Given the description of an element on the screen output the (x, y) to click on. 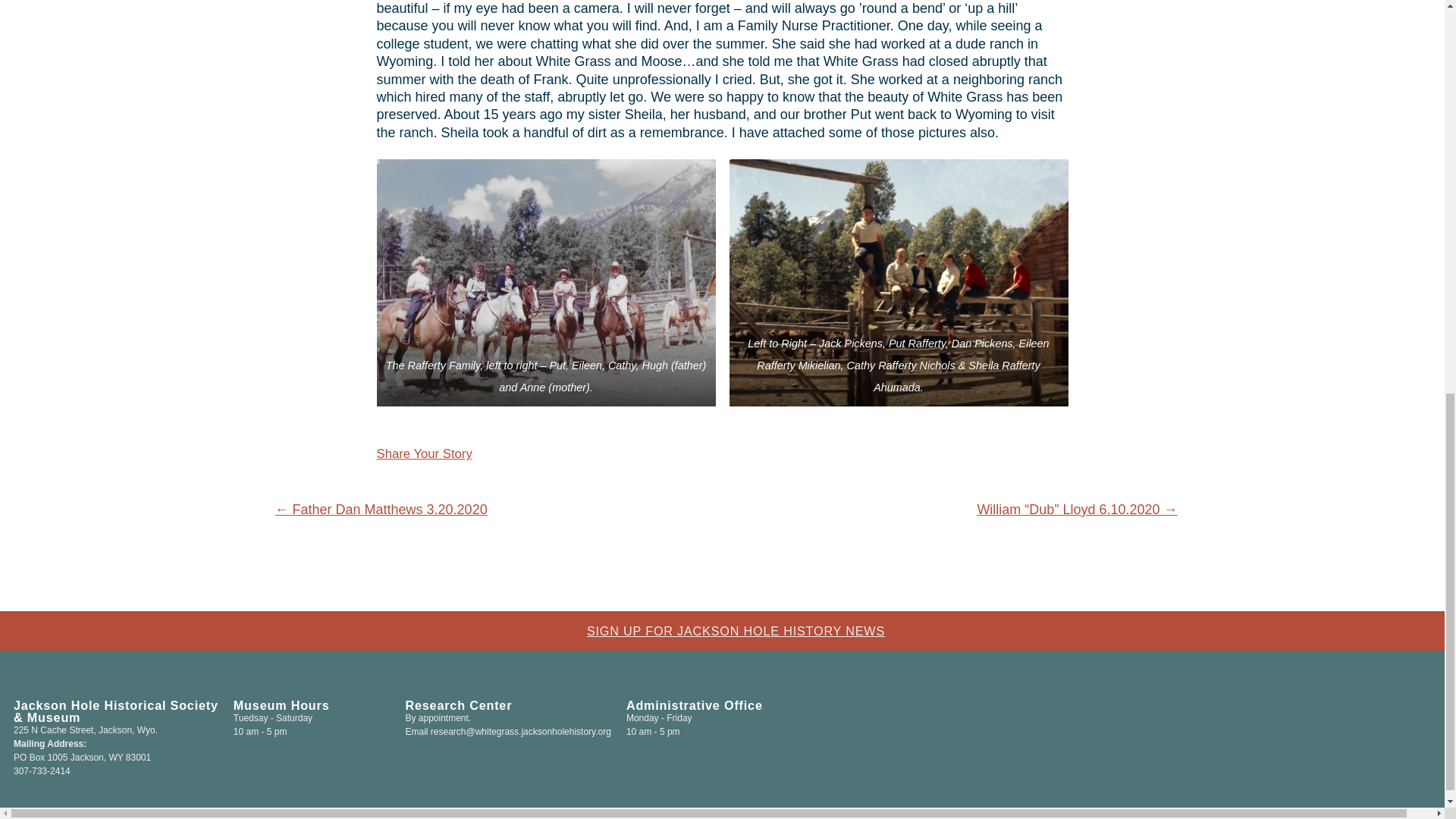
Share Your Story (423, 453)
307-733-2414 (41, 770)
